Given the description of an element on the screen output the (x, y) to click on. 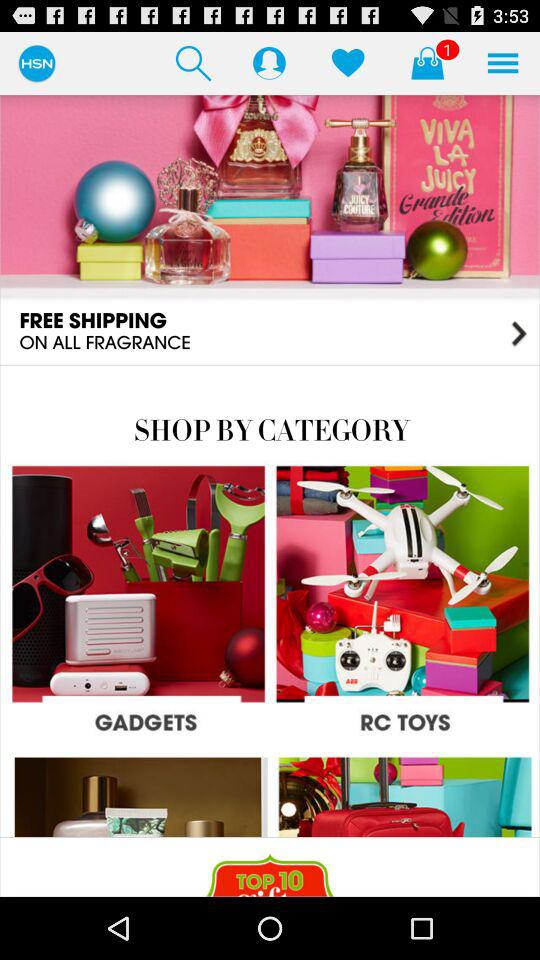
display the profile details (269, 62)
